Given the description of an element on the screen output the (x, y) to click on. 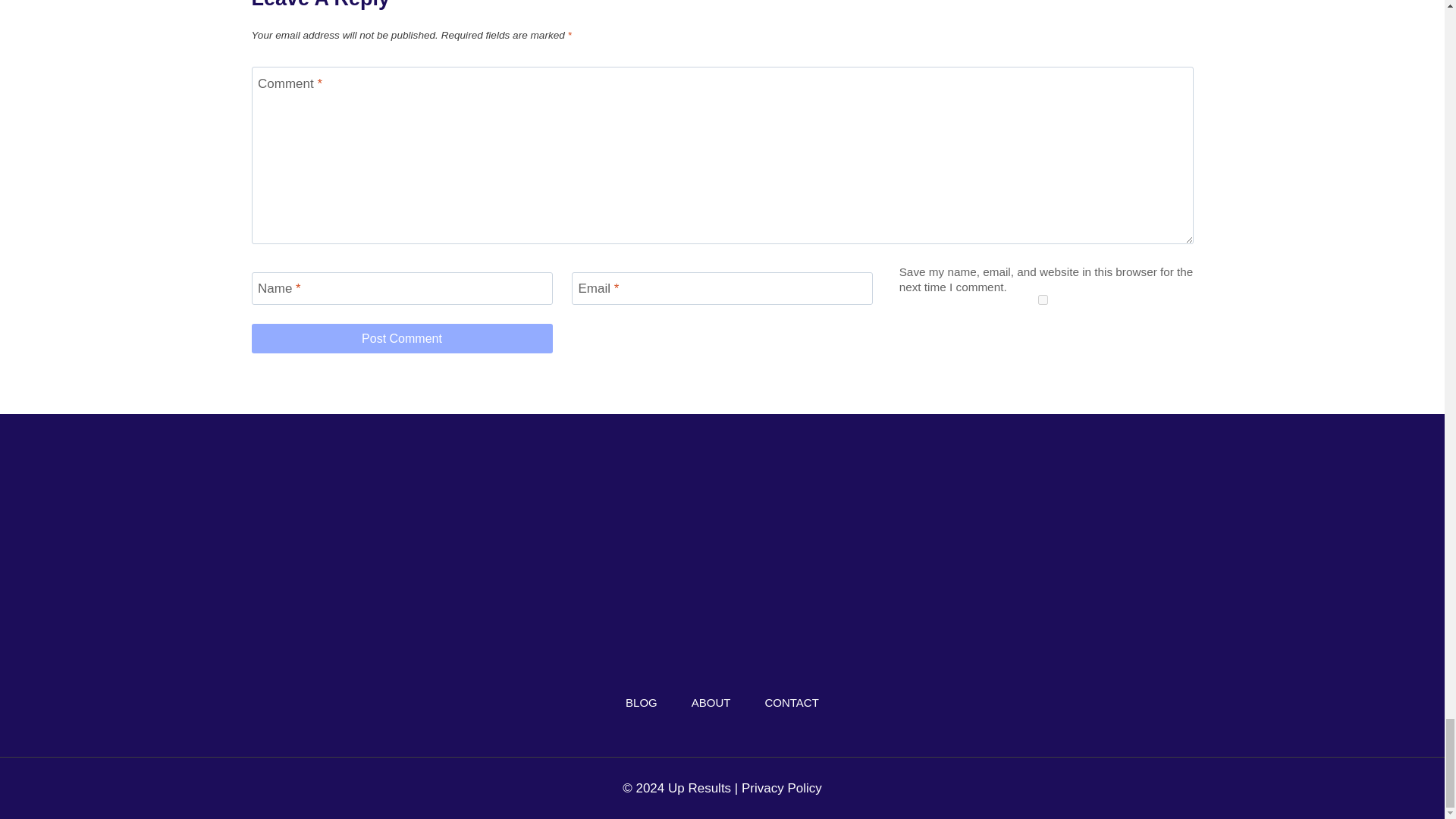
Post Comment (402, 337)
yes (1041, 299)
